Given the description of an element on the screen output the (x, y) to click on. 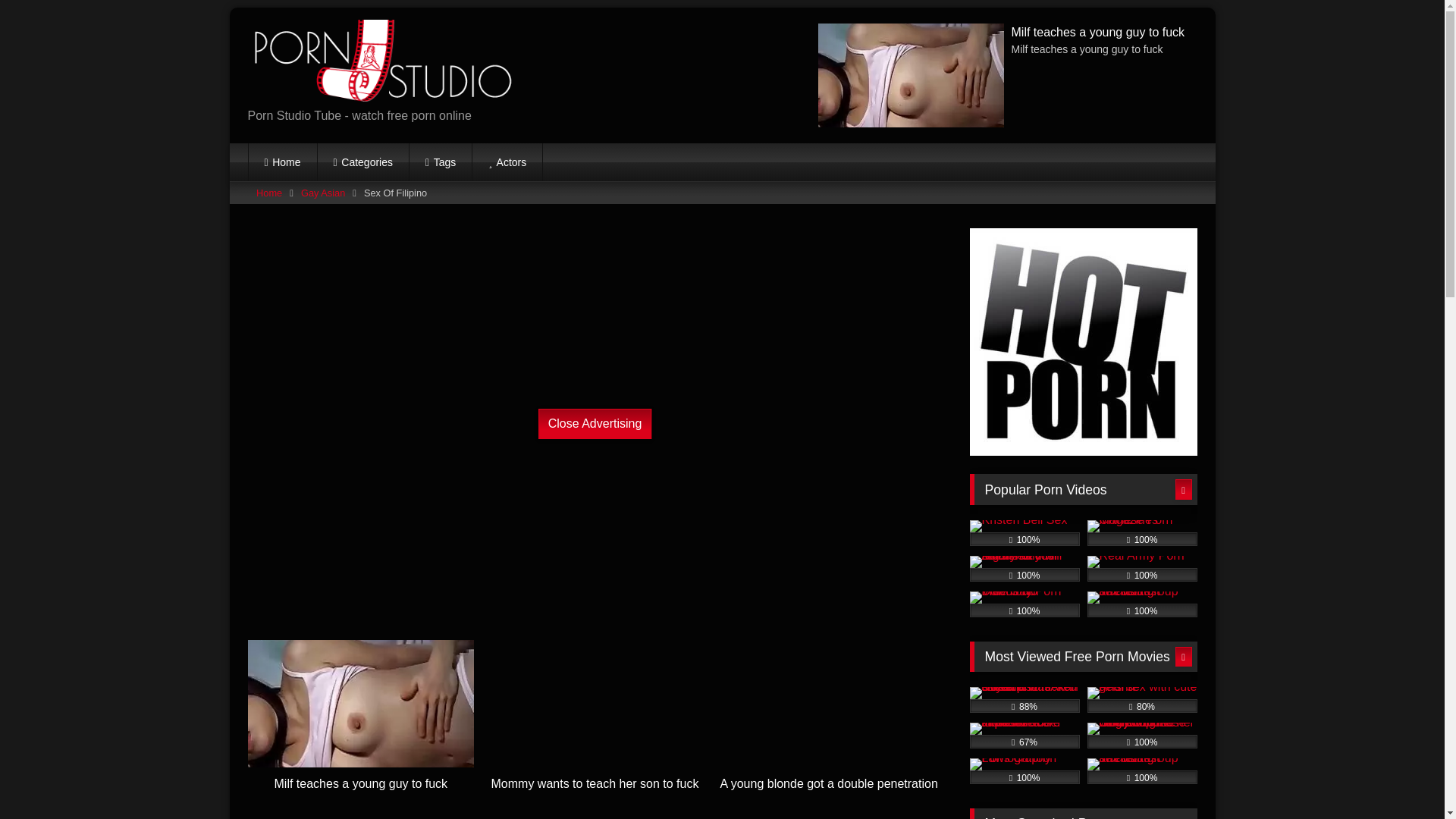
Milf teaches a young guy to fuck (360, 729)
Kristen Bell Sex (1023, 533)
XXX Tags Porn (440, 161)
Categories (363, 161)
Actors (506, 161)
Porn Studio Actors (506, 161)
PornStudio.net (379, 63)
Gay Asian (323, 192)
